Given the description of an element on the screen output the (x, y) to click on. 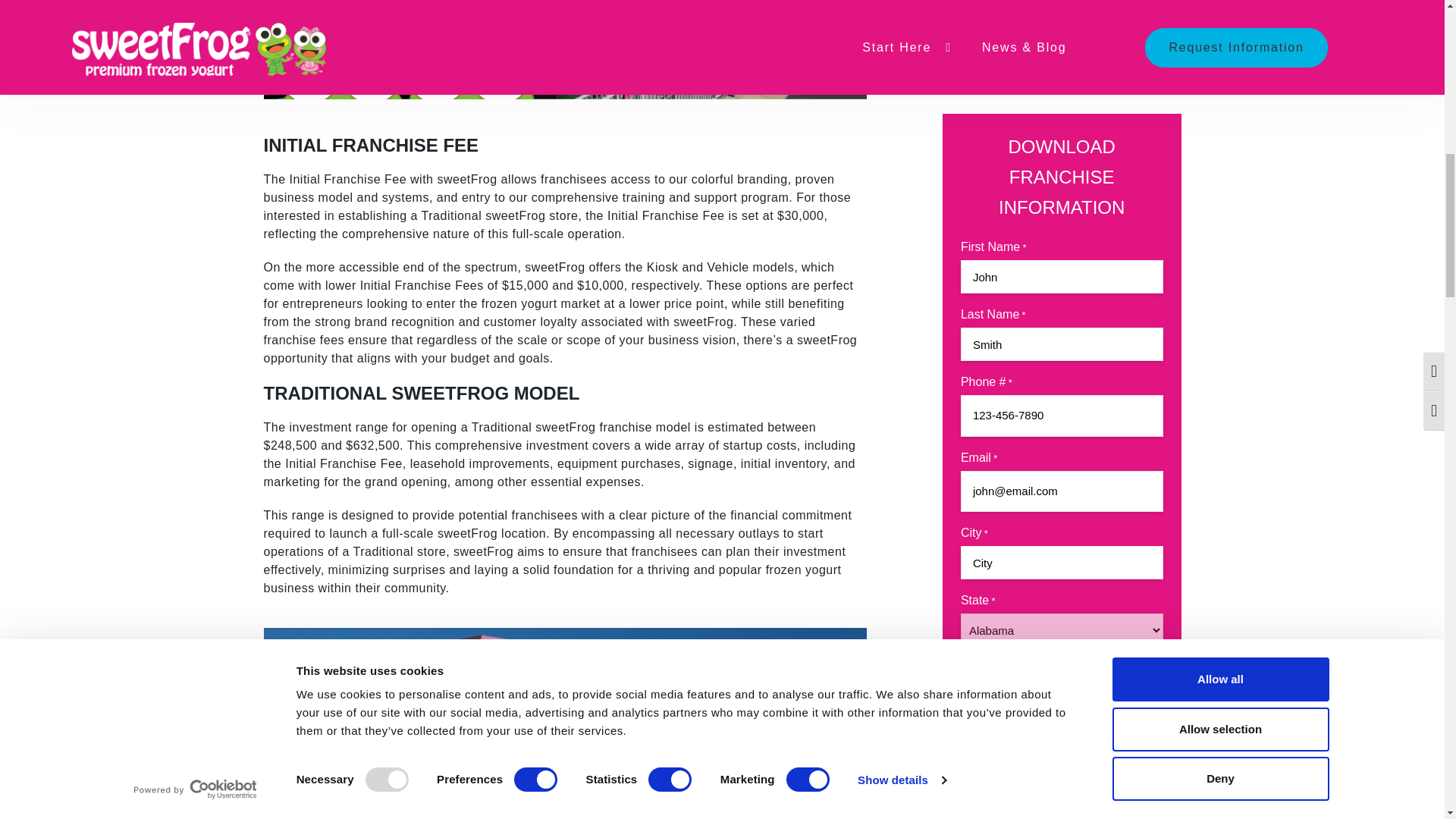
Request Information (1061, 127)
